Given the description of an element on the screen output the (x, y) to click on. 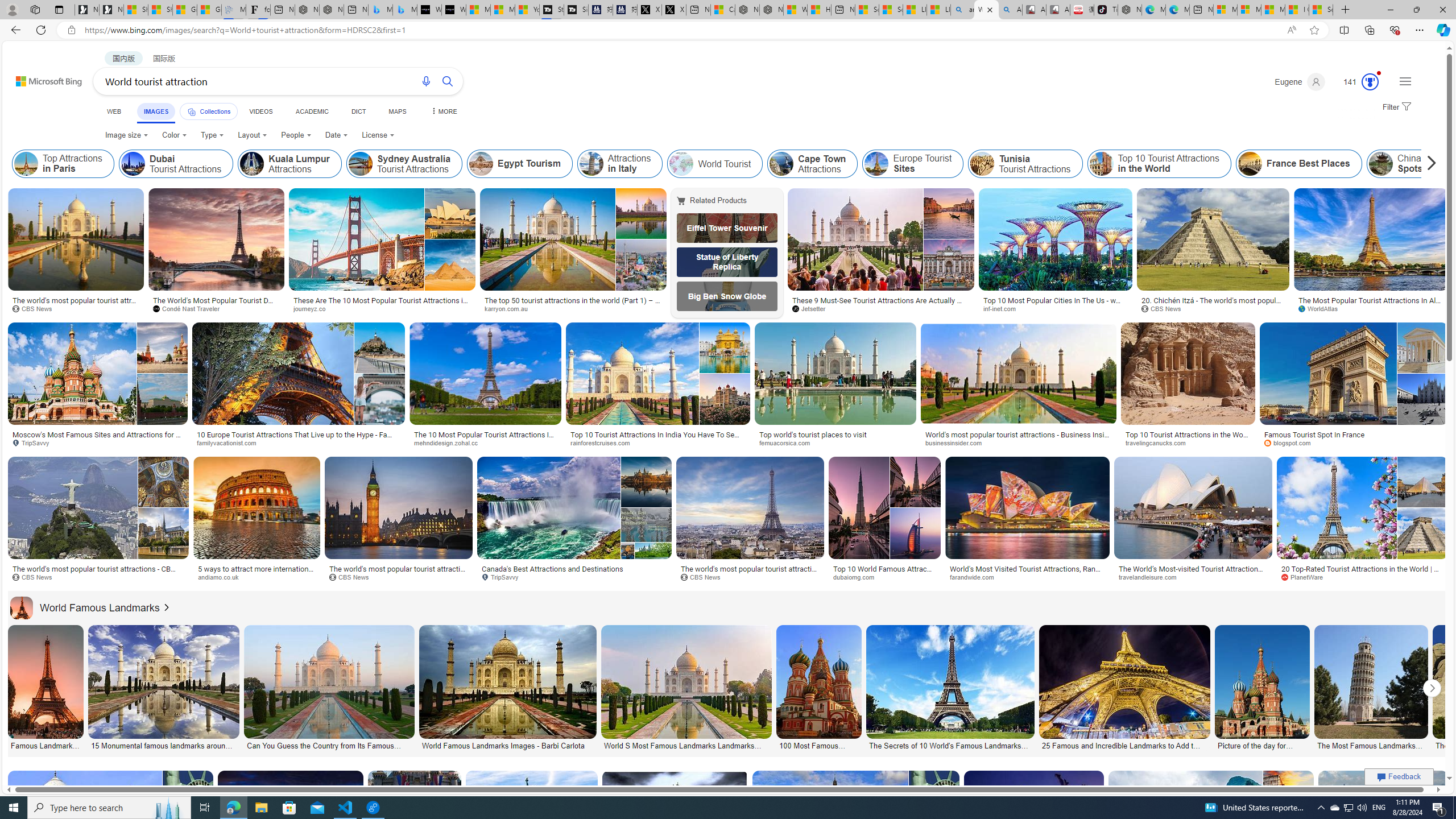
Famous Landmarks in the world (46, 744)
Dubai Tourist Attractions (132, 163)
France Best Places (1249, 163)
Famous Tourist Spot In Franceblogspot.comSave (1353, 387)
Sydney Australia Tourist Attractions (404, 163)
Microsoft Rewards 138 (1356, 81)
MAPS (397, 111)
